Given the description of an element on the screen output the (x, y) to click on. 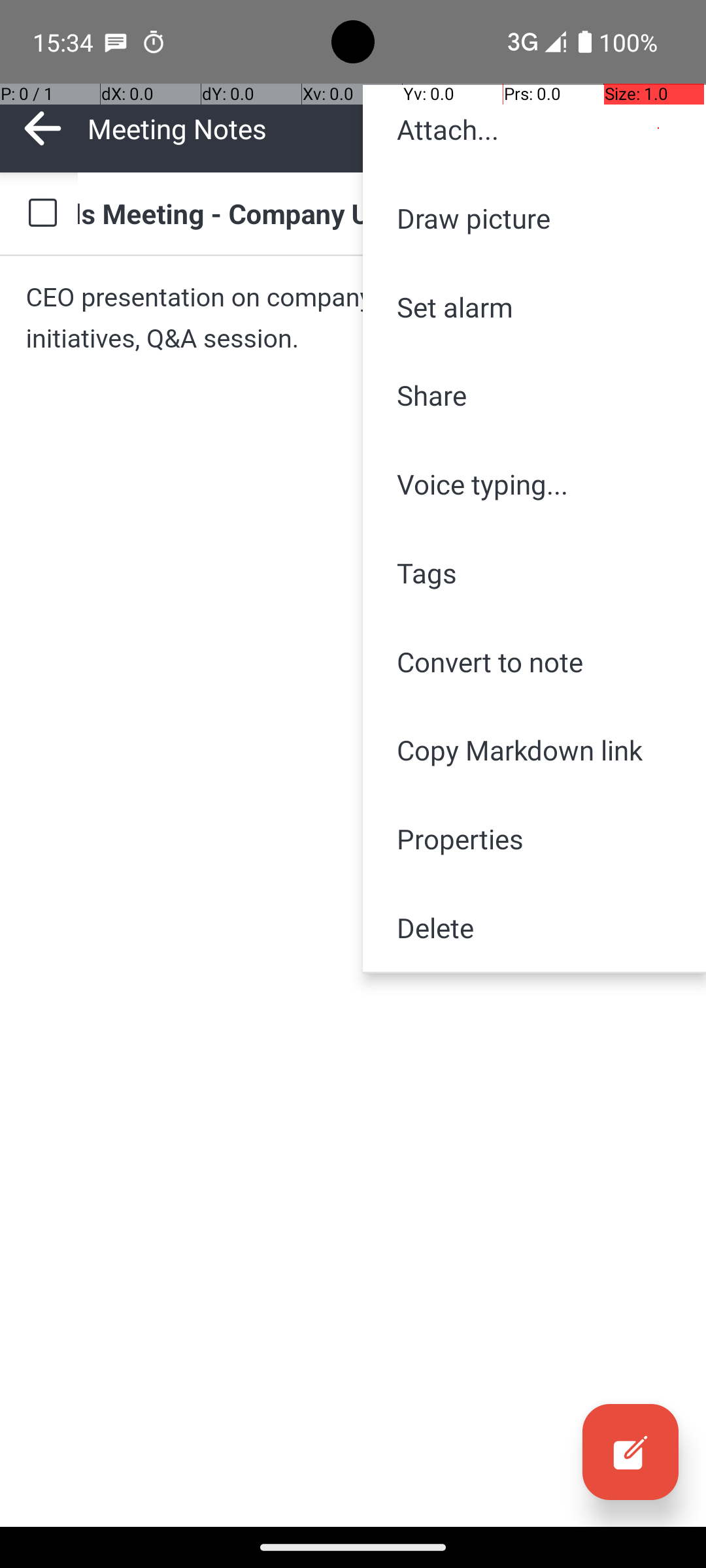
All-Hands Meeting - Company UAll-Hands Meeting - Company Update - March 15, 2024Test Inputpdate - February 7, 2024 Element type: android.widget.EditText (378, 213)
CEO presentation on company performance, new initiatives, Q&A session. Element type: android.widget.TextView (352, 317)
